Given the description of an element on the screen output the (x, y) to click on. 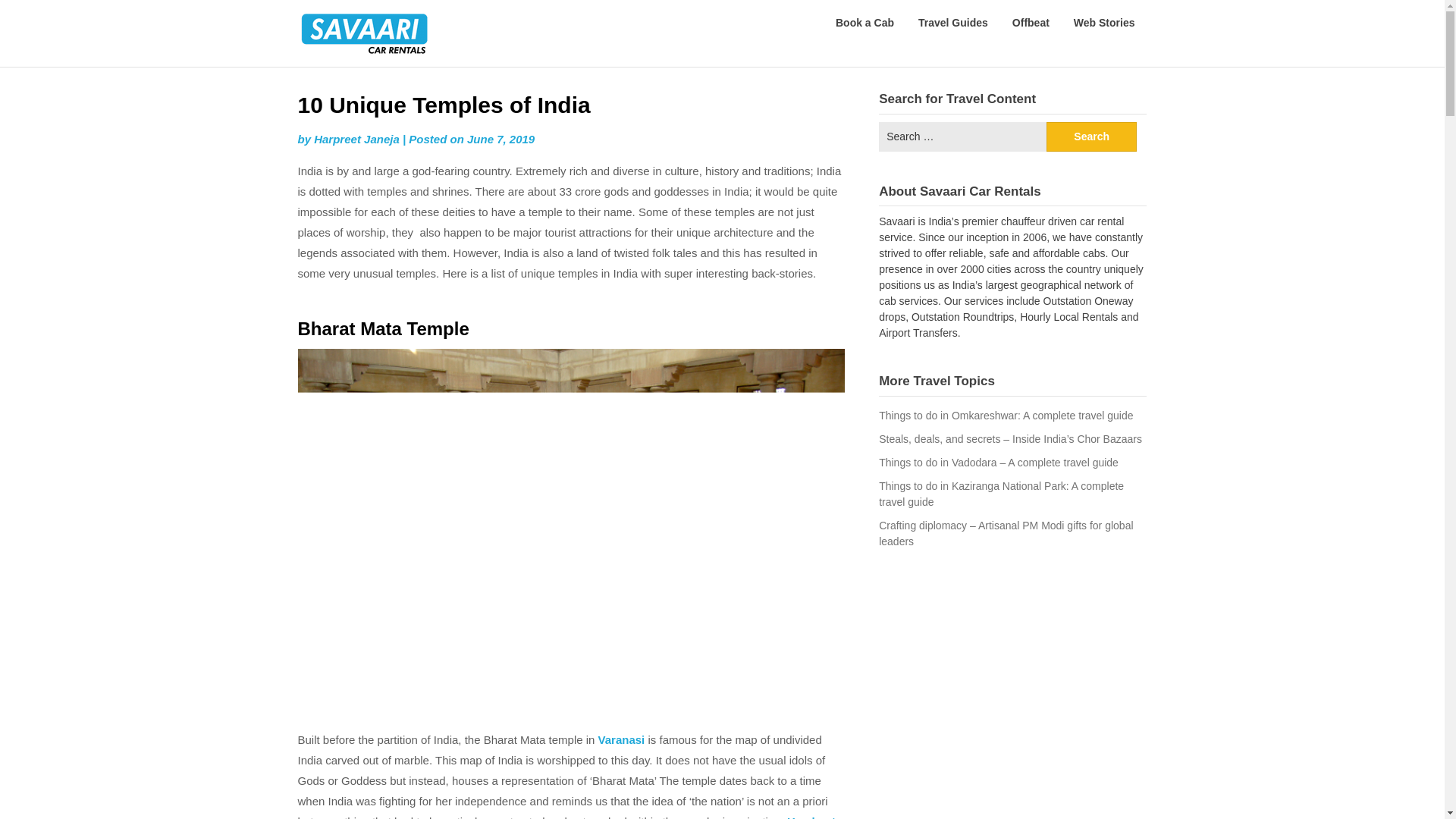
Travel Guides (952, 22)
Varanasi (621, 739)
Offbeat (1030, 22)
Search (1091, 135)
Search (1091, 135)
Book a Cab (864, 22)
Harpreet Janeja (356, 138)
June 7, 2019 (500, 138)
